Given the description of an element on the screen output the (x, y) to click on. 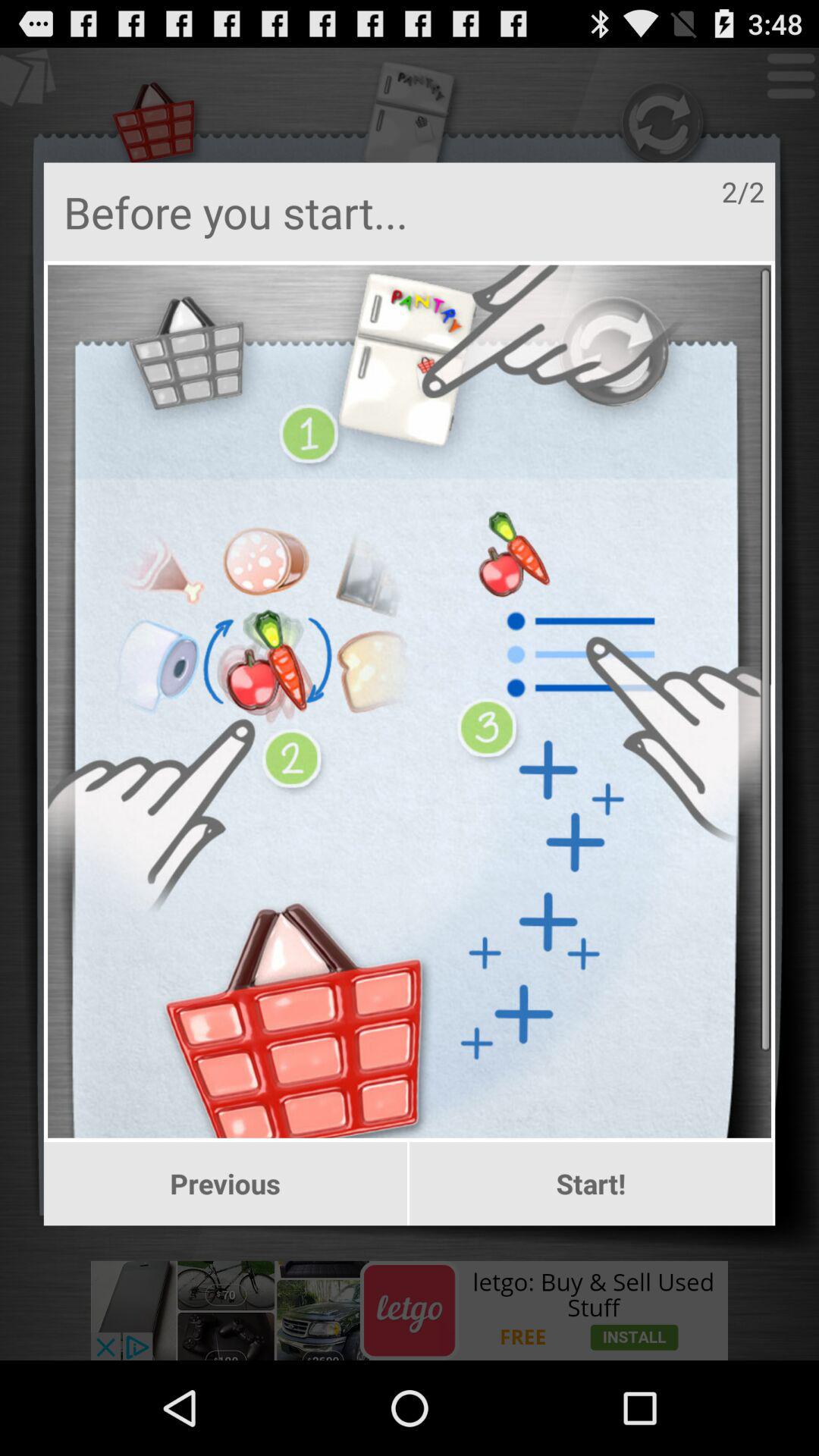
launch button next to the previous icon (590, 1183)
